Given the description of an element on the screen output the (x, y) to click on. 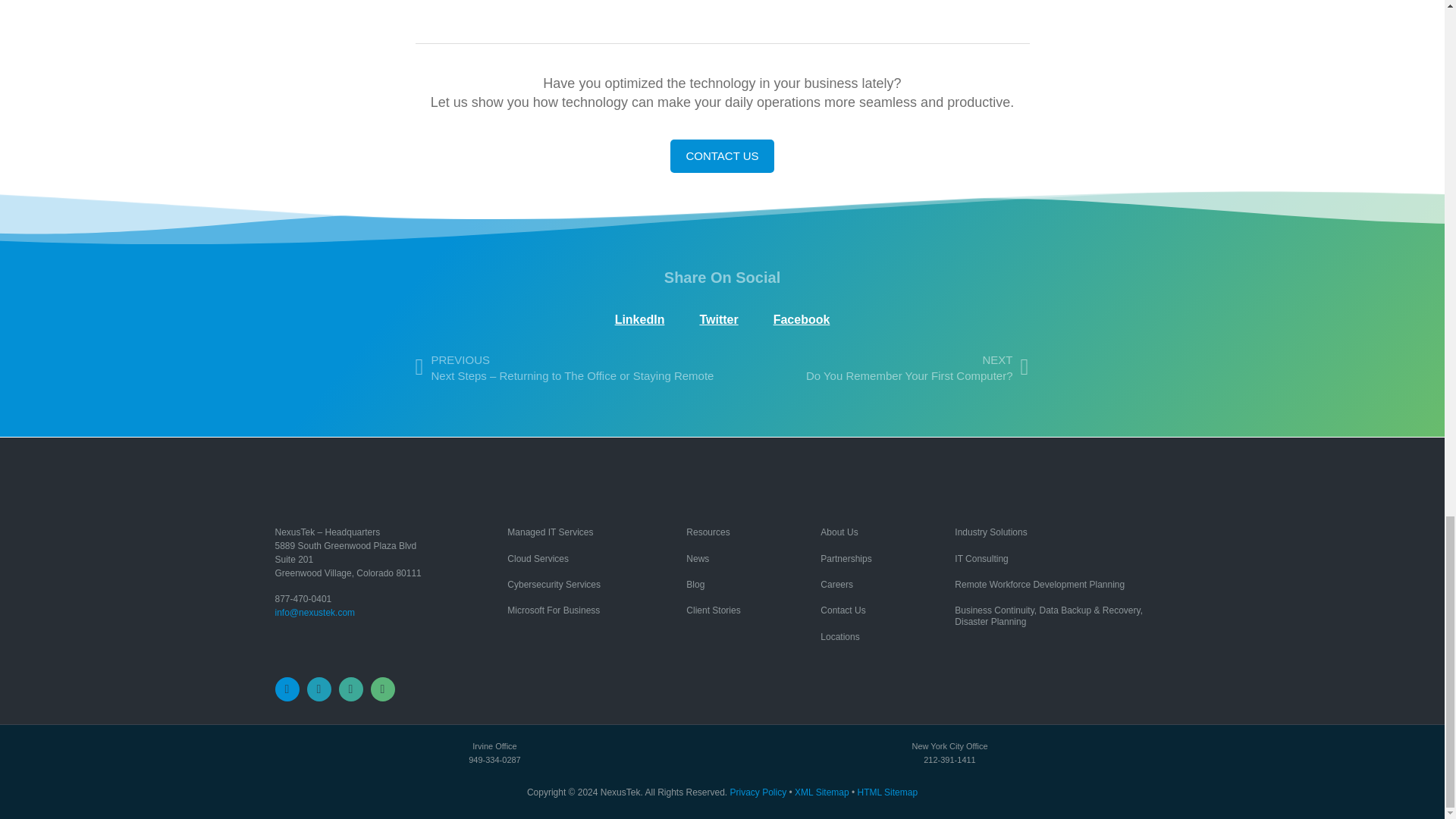
NexusTek website secondary logo 250 x 60 (350, 485)
